Given the description of an element on the screen output the (x, y) to click on. 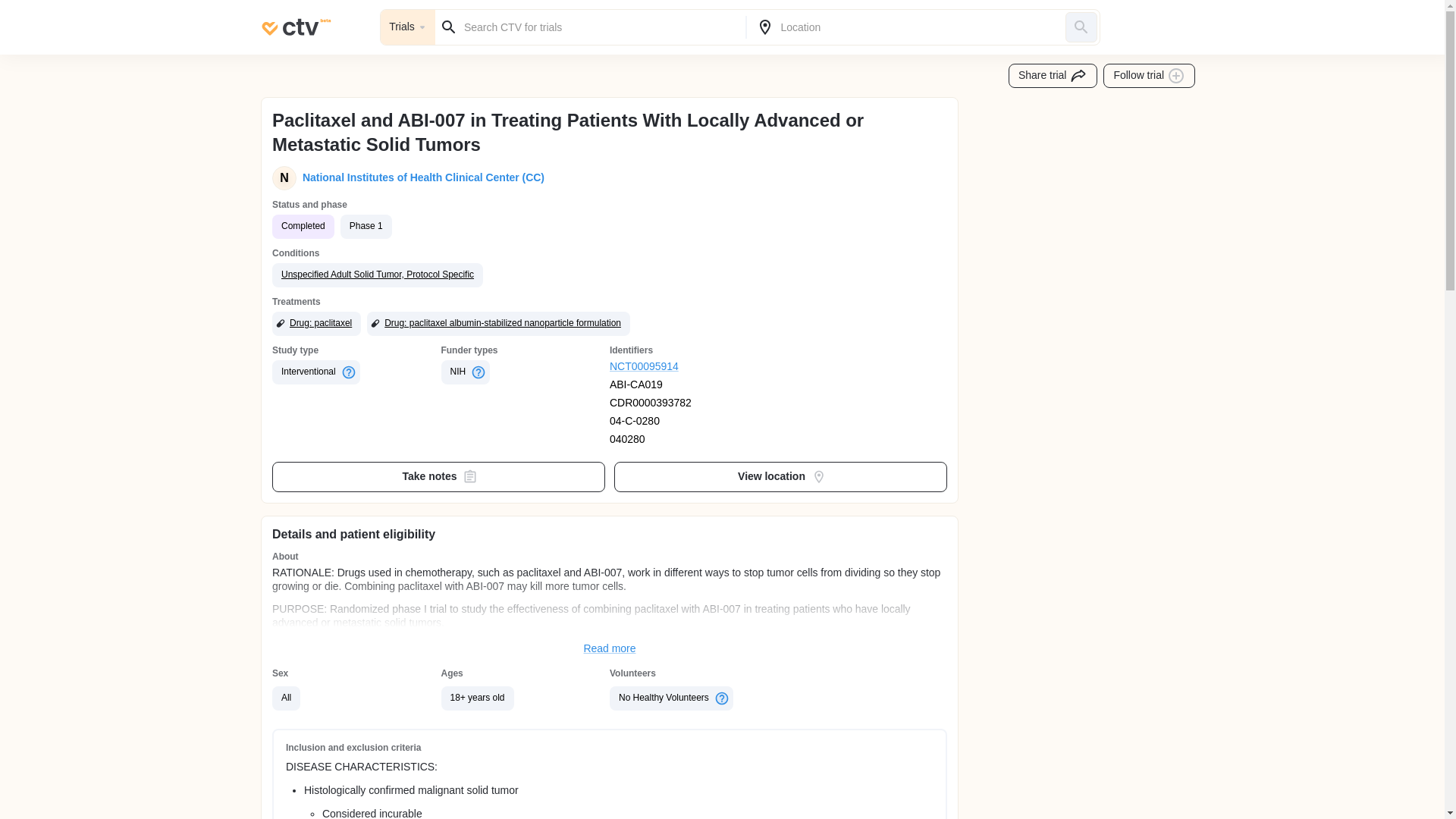
Share trial (1053, 75)
Trials (407, 27)
Take notes (438, 476)
View location (780, 476)
Read more (609, 649)
Follow trial (1149, 75)
NCT00095914 (694, 366)
